Given the description of an element on the screen output the (x, y) to click on. 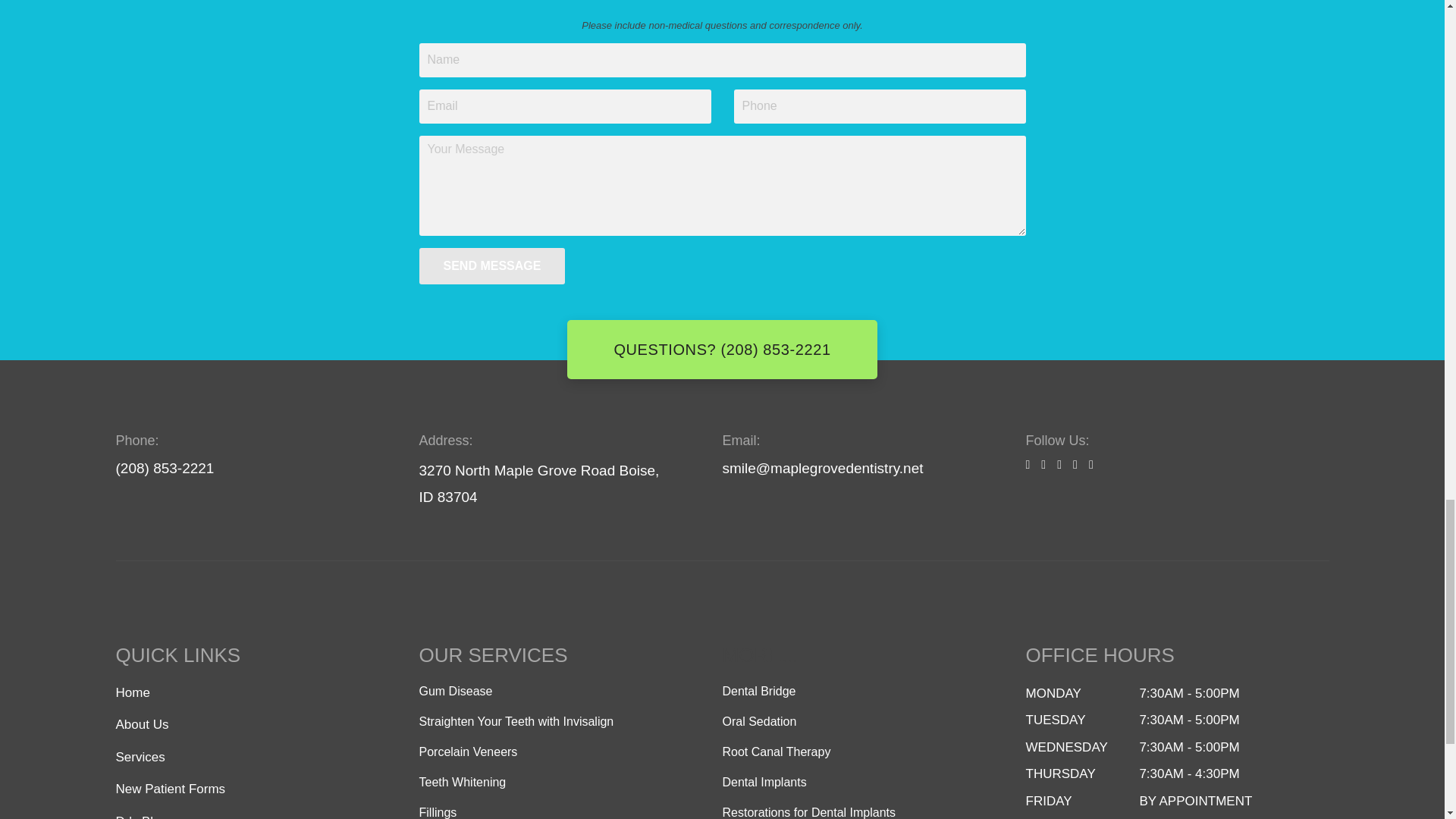
Send message (491, 266)
